Given the description of an element on the screen output the (x, y) to click on. 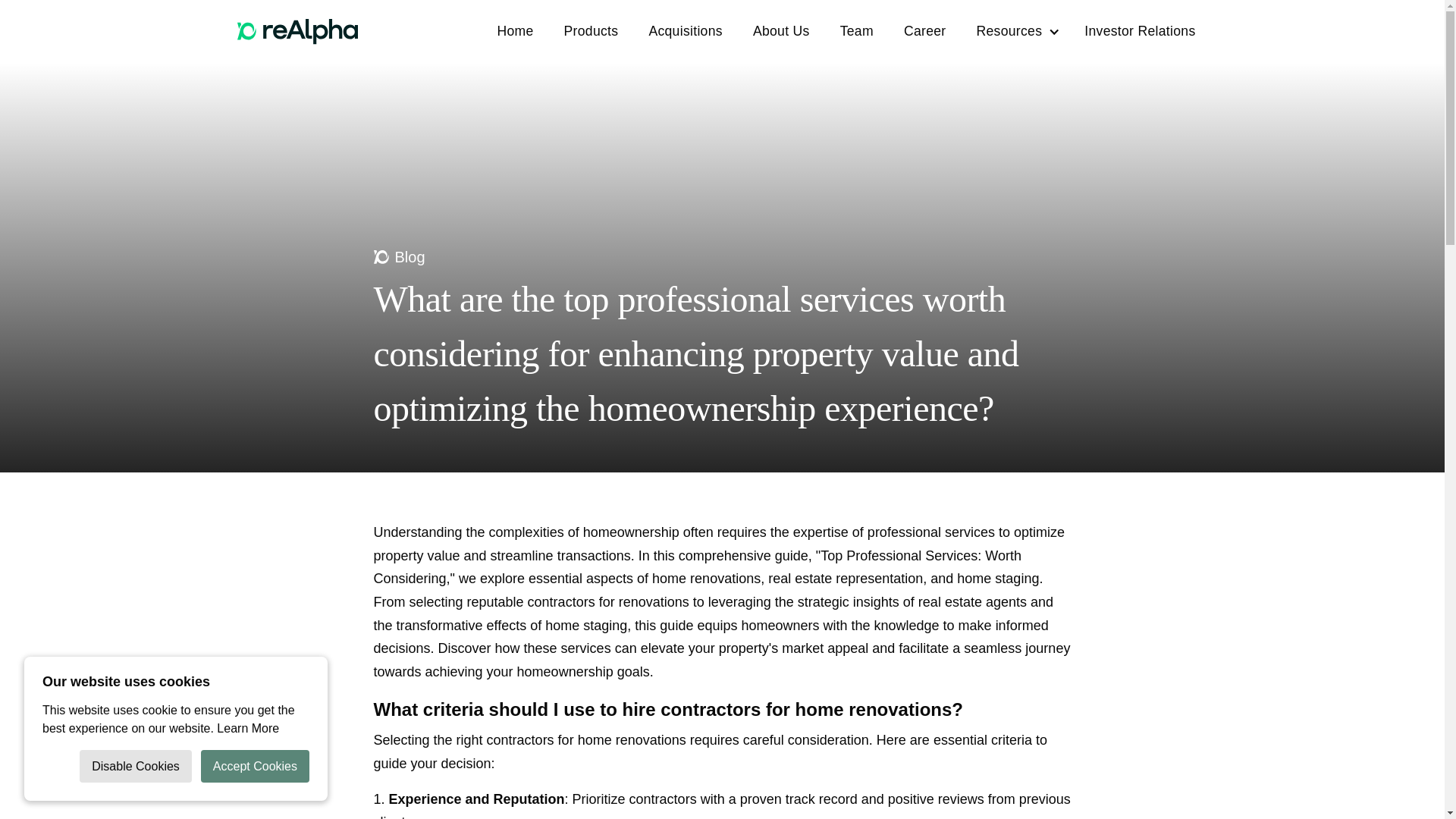
Learn More (247, 727)
Career (924, 31)
Team (856, 31)
Disable Cookies (136, 766)
About Us (781, 31)
Investor Relations (1139, 31)
Products (590, 31)
Acquisitions (684, 31)
Accept Cookies (254, 766)
Home (514, 31)
